Given the description of an element on the screen output the (x, y) to click on. 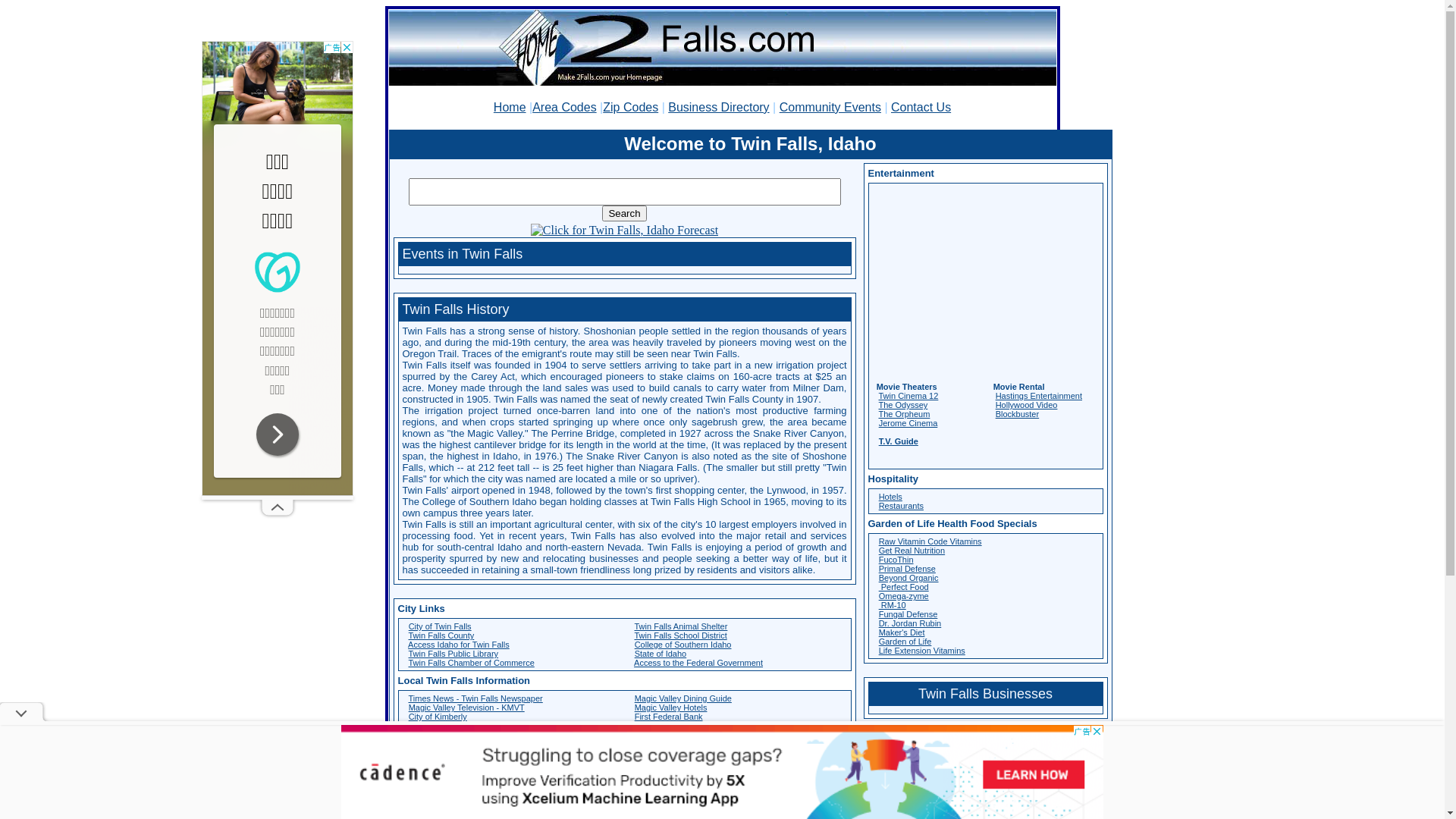
College of Southern Idaho Element type: text (682, 644)
HealthForce Nutritionals Element type: text (470, 758)
Life Extension Vitamins Element type: text (921, 650)
Hastings Entertainment Element type: text (1038, 395)
Advertisement Element type: hover (277, 267)
Zip Codes Element type: text (630, 106)
Twin Falls Animal Shelter Element type: text (680, 625)
Magic Valley Hotels Element type: text (670, 707)
AOL Twin Falls City Guide Element type: text (456, 725)
Hollywood Video Element type: text (1026, 404)
Get Real Nutrition Element type: text (911, 550)
Magic Valley Dining Guide Element type: text (682, 697)
Twin Falls County Element type: text (440, 635)
Magic Valley Television - KMVT Element type: text (466, 707)
Community Events Element type: text (830, 106)
Jerome Cinema Element type: text (908, 422)
Fungal Defense Element type: text (908, 613)
Times News - Twin Falls Newspaper Element type: text (474, 697)
Blockbuster Element type: text (1016, 413)
Search Element type: text (624, 213)
Dr. Jordan Rubin Element type: text (909, 622)
Beyond Organic Element type: text (908, 577)
RM-10 Element type: text (892, 604)
Restaurants Element type: text (900, 505)
Primal Defense Element type: text (906, 568)
Access to the Federal Government Element type: text (697, 662)
Garden of Life Element type: text (904, 641)
Perfect Food Element type: text (903, 586)
City of Kimberly Element type: text (437, 716)
First Federal Bank Element type: text (668, 716)
Omega-zyme Element type: text (903, 595)
T.V. Guide Element type: text (898, 440)
State of Idaho Element type: text (660, 653)
Twin Falls School District Element type: text (679, 635)
Hotels Element type: text (890, 496)
Raw Vitamin Code Vitamins Element type: text (930, 541)
The Odyssey Element type: text (902, 404)
Twin Falls Public Library Element type: text (452, 653)
The Orpheum Element type: text (903, 413)
Twin Falls Chamber of Commerce Element type: text (470, 662)
Contact Us Element type: text (920, 106)
Access Idaho for Twin Falls Element type: text (458, 644)
City of Twin Falls Element type: text (439, 625)
Business Directory Element type: text (718, 106)
Advertisement Element type: hover (985, 281)
Home Element type: text (509, 106)
Area Codes Element type: text (564, 106)
FucoThin Element type: text (895, 559)
Twin Cinema 12 Element type: text (908, 395)
Maker's Diet Element type: text (901, 632)
